Given the description of an element on the screen output the (x, y) to click on. 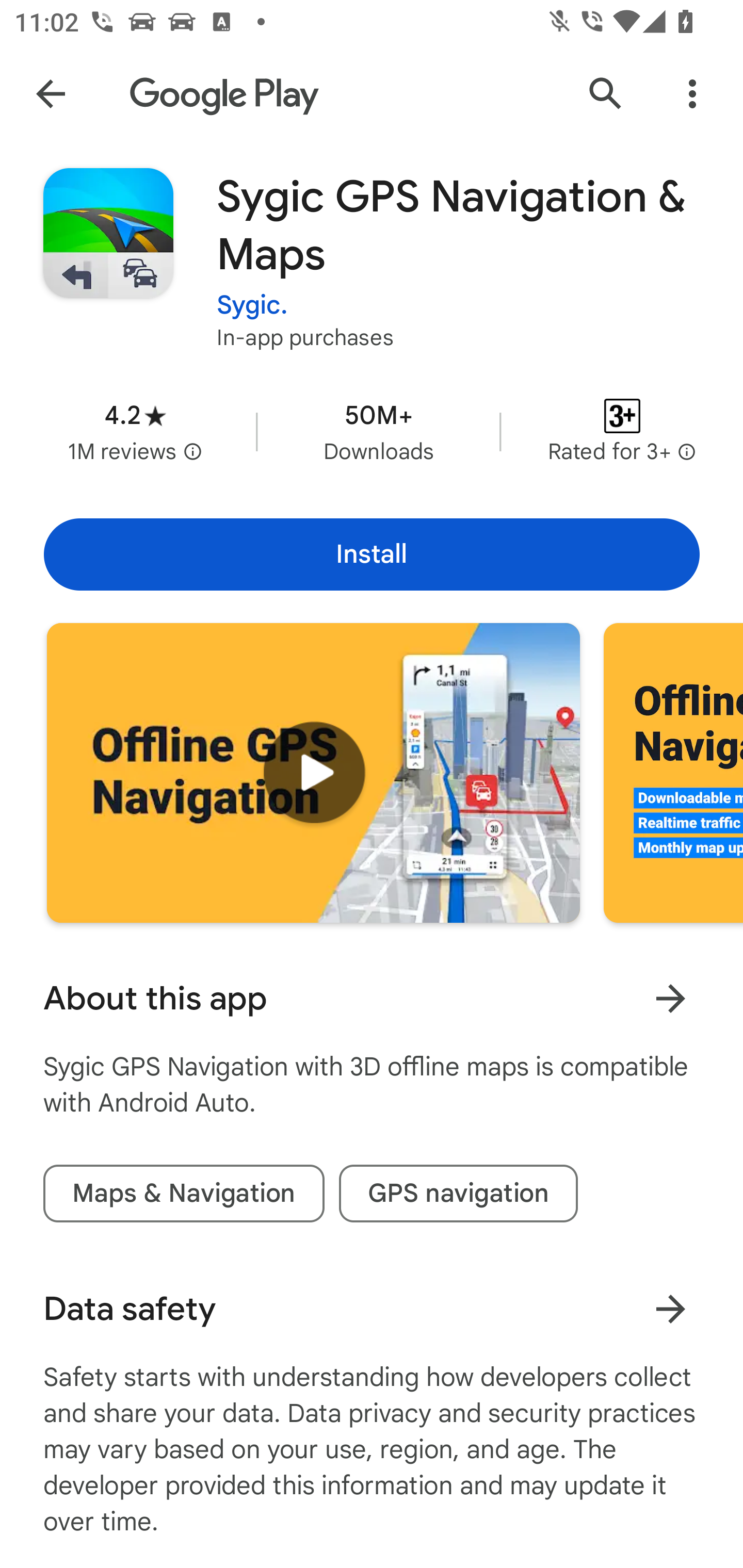
Navigate up (50, 93)
Search Google Play (605, 93)
More Options (692, 93)
Sygic. (251, 304)
Average rating 4.2 stars in 1 million reviews (135, 431)
Content rating Rated for 3+ (622, 431)
Install (371, 554)
Play trailer for "Sygic GPS Navigation & Maps" (313, 771)
About this app Learn more About this app (371, 998)
Learn more About this app (670, 997)
Maps & Navigation tag (183, 1193)
GPS navigation tag (458, 1193)
Data safety Learn more about data safety (371, 1309)
Learn more about data safety (670, 1308)
